Given the description of an element on the screen output the (x, y) to click on. 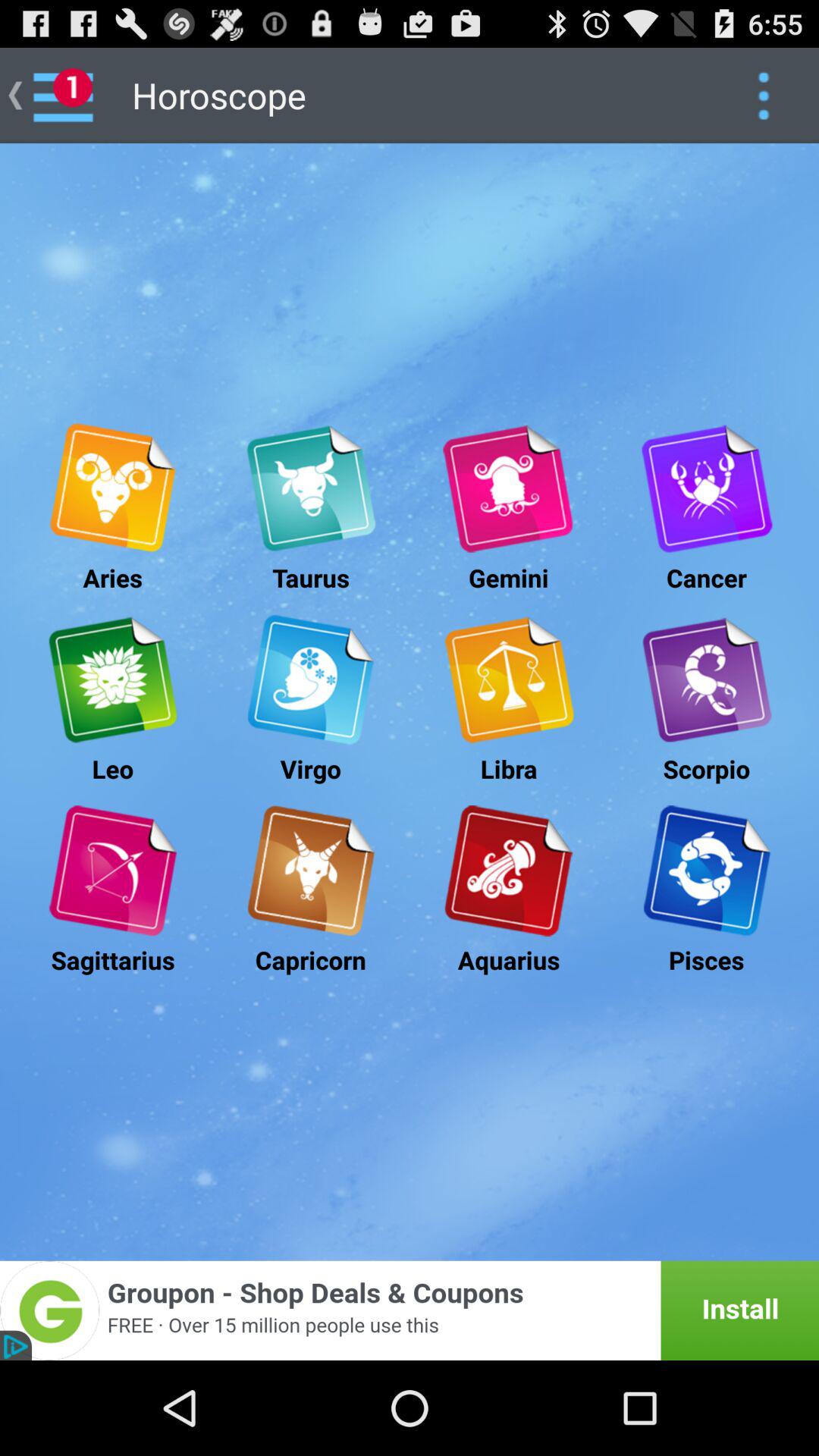
arles (112, 488)
